Given the description of an element on the screen output the (x, y) to click on. 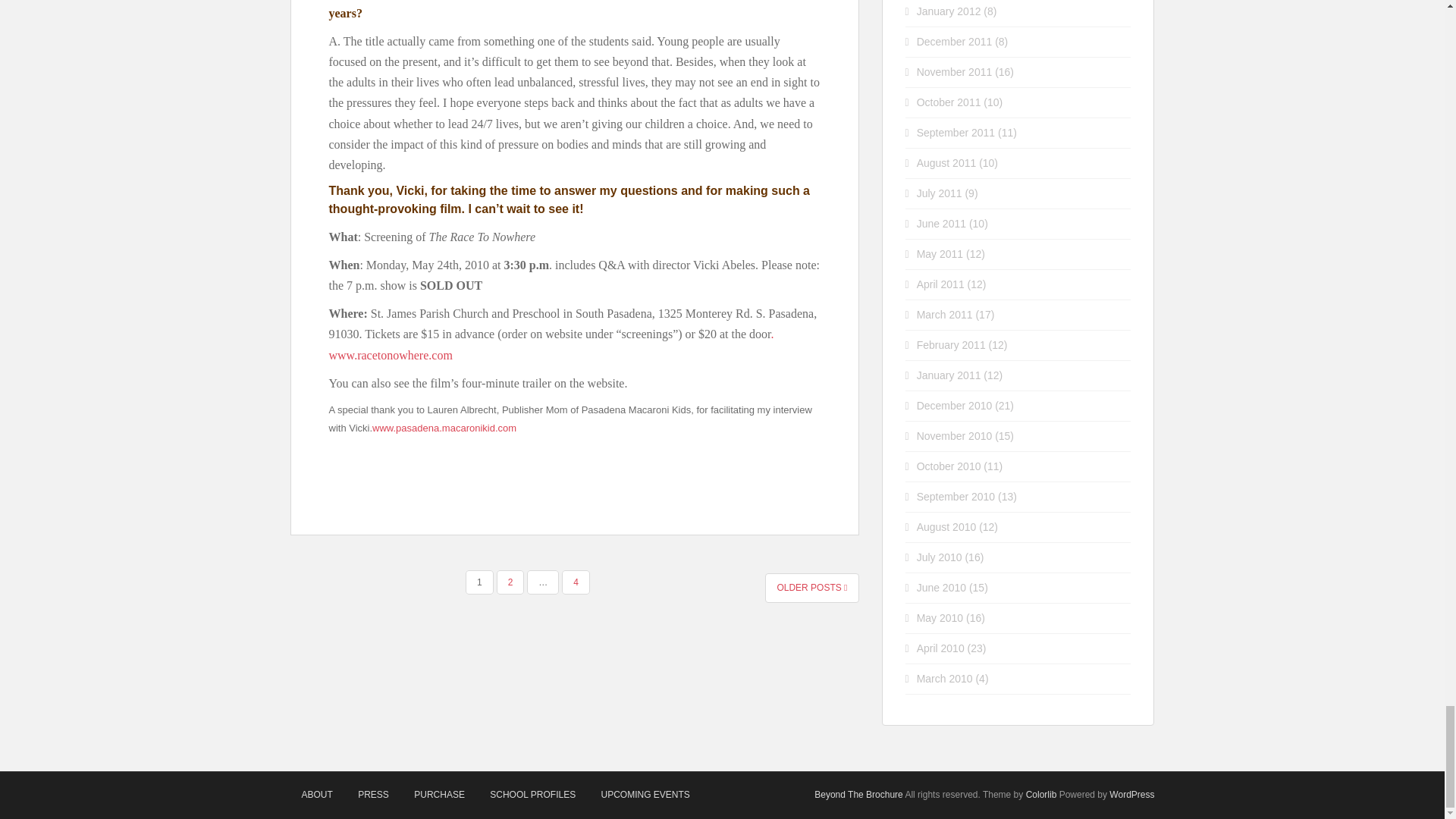
Beyond The Brochure (857, 794)
